Given the description of an element on the screen output the (x, y) to click on. 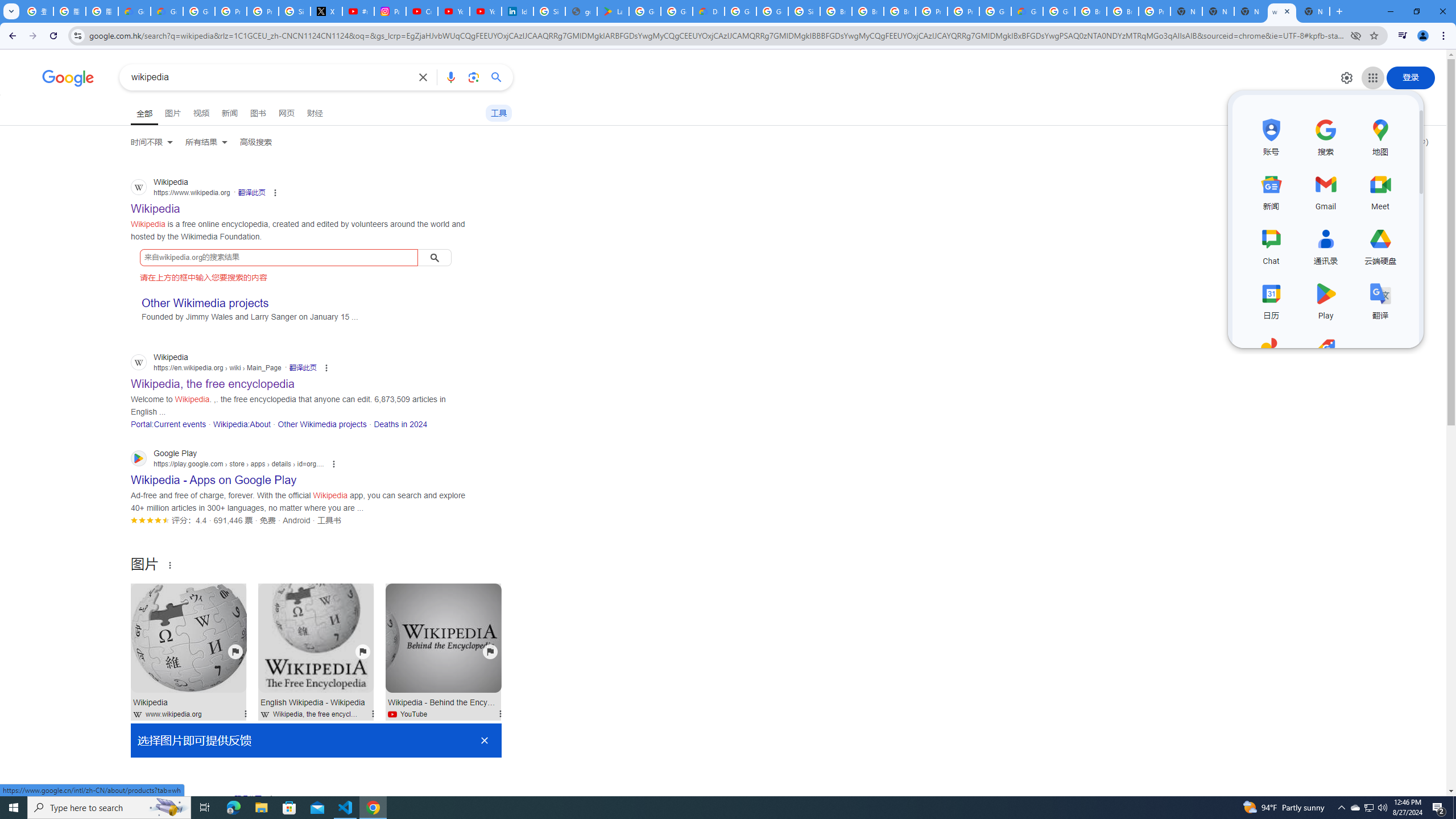
Google Workspace - Specific Terms (676, 11)
Sign in - Google Accounts (294, 11)
Google Cloud Platform (740, 11)
New Tab (1185, 11)
